Given the description of an element on the screen output the (x, y) to click on. 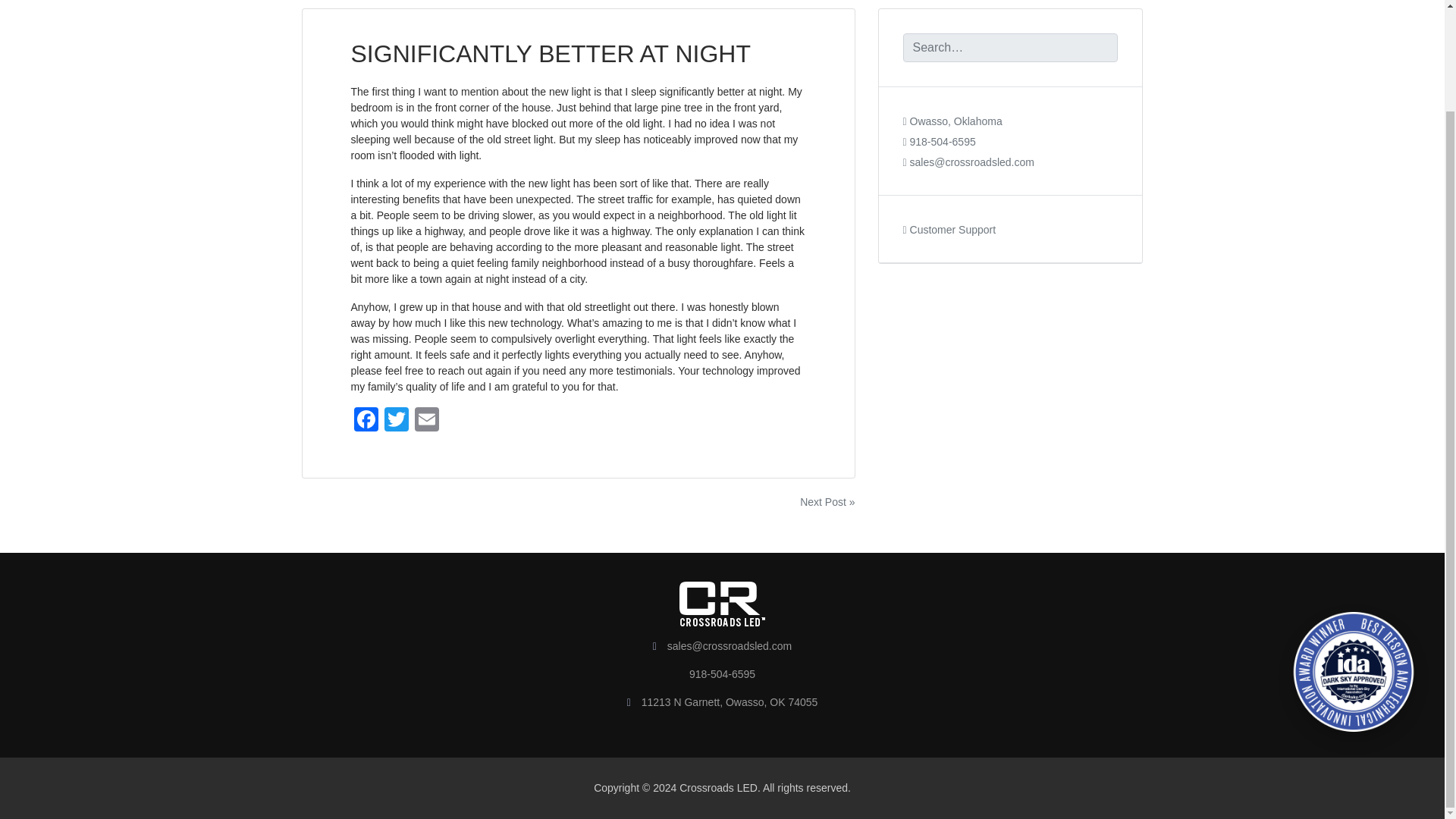
Twitter (395, 420)
Owasso, Oklahoma (951, 121)
Email (425, 420)
918-504-6595 (938, 141)
Facebook (365, 420)
Customer Support (948, 229)
Facebook (365, 420)
Email (425, 420)
Twitter (395, 420)
